Given the description of an element on the screen output the (x, y) to click on. 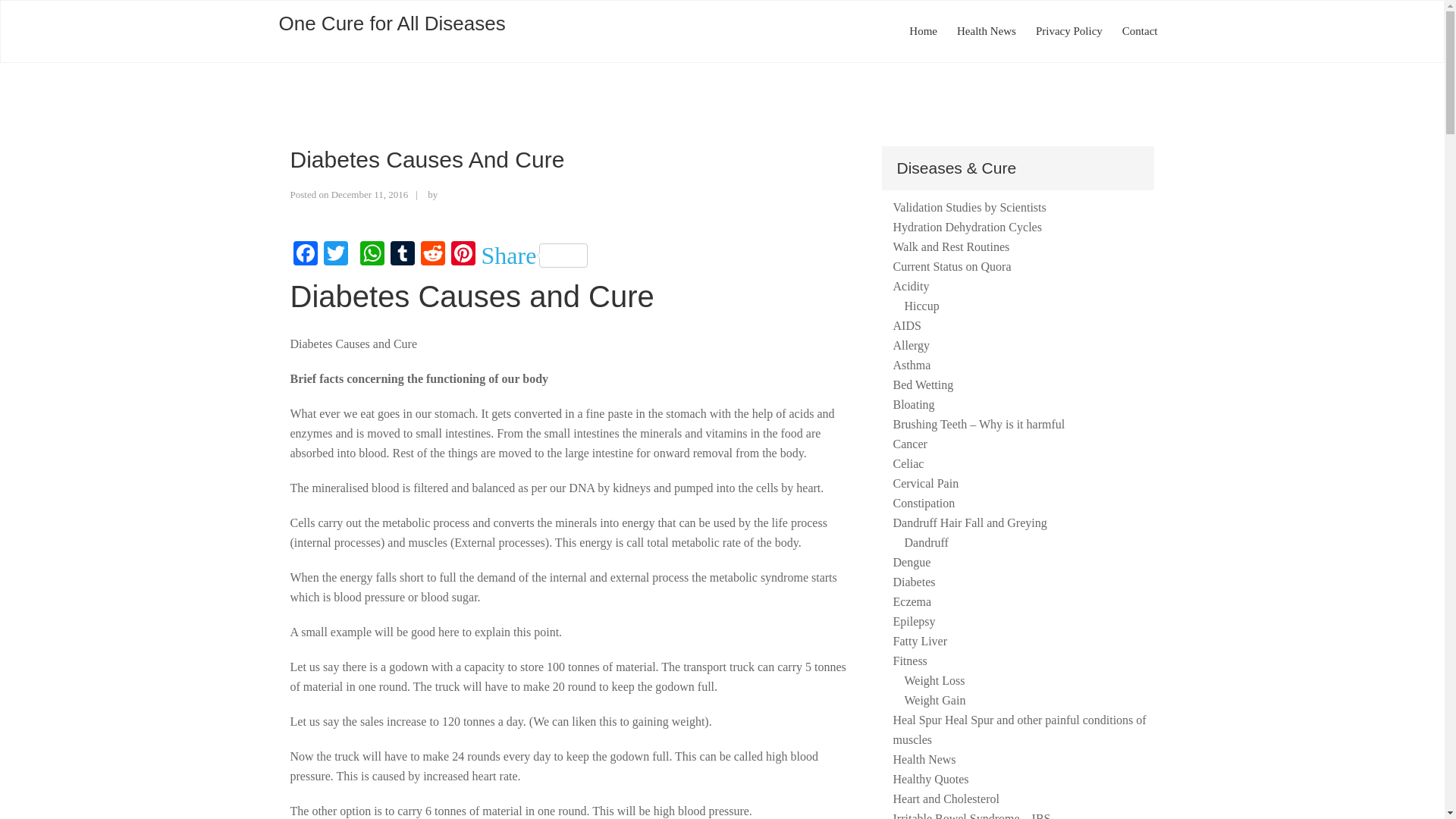
Health News (987, 31)
Share (534, 254)
Facebook (304, 254)
Health News (987, 31)
Validation Studies by Scientists (969, 206)
December 11, 2016 (370, 194)
WhatsApp (371, 254)
Reddit (431, 254)
Privacy Policy (1068, 31)
Acidity (911, 286)
Walk and Rest Routines (951, 246)
Hydration Dehydration Cycles (967, 226)
Pinterest (461, 254)
One Cure for All Diseases (392, 23)
